Given the description of an element on the screen output the (x, y) to click on. 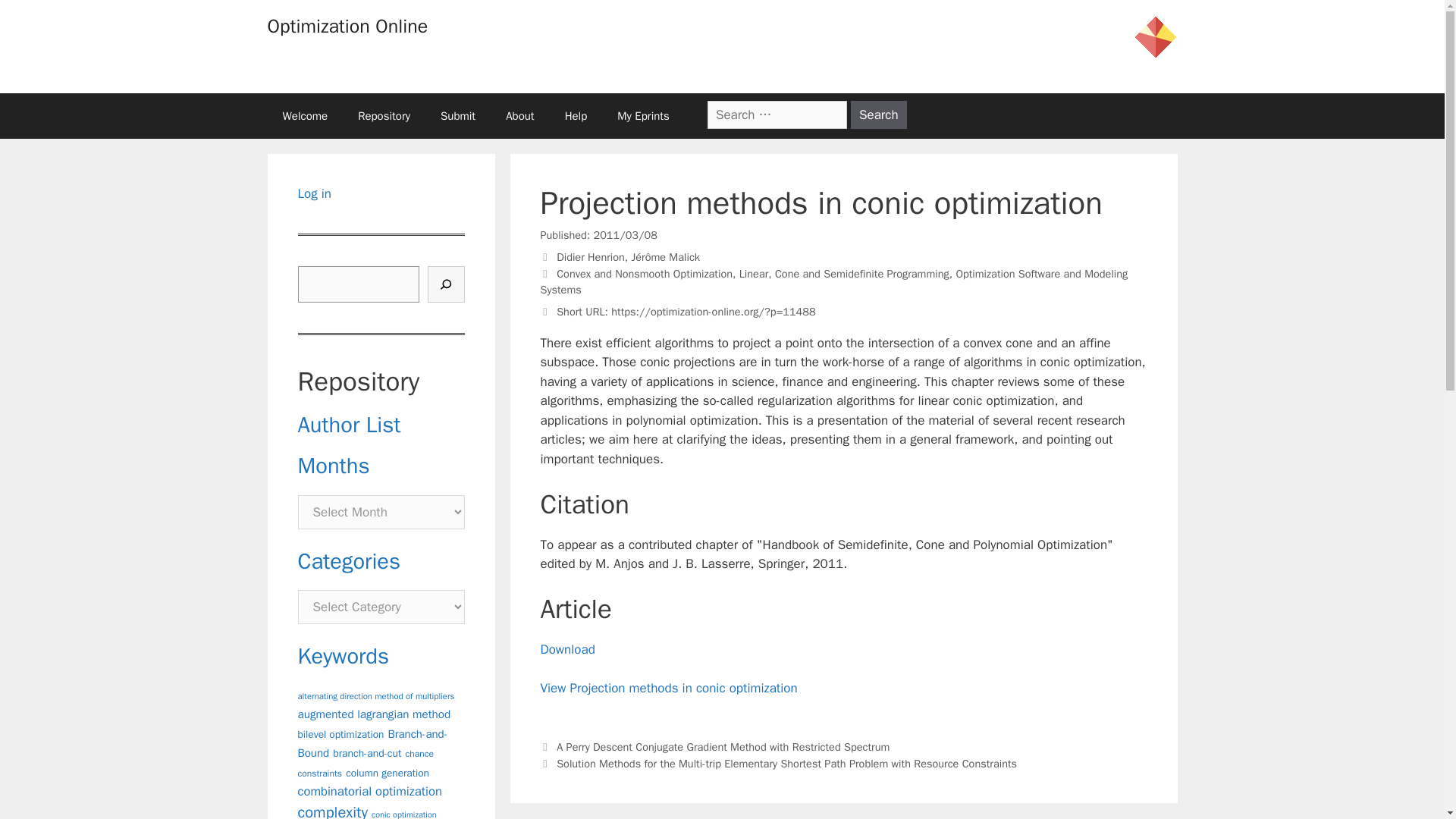
Welcome (304, 115)
Branch-and-Bound (371, 743)
Linear, Cone and Semidefinite Programming (844, 273)
Search for: (777, 113)
chance constraints (364, 763)
conic optimization (403, 814)
Search (878, 113)
column generation (387, 772)
Author List (348, 424)
Help (576, 115)
